Given the description of an element on the screen output the (x, y) to click on. 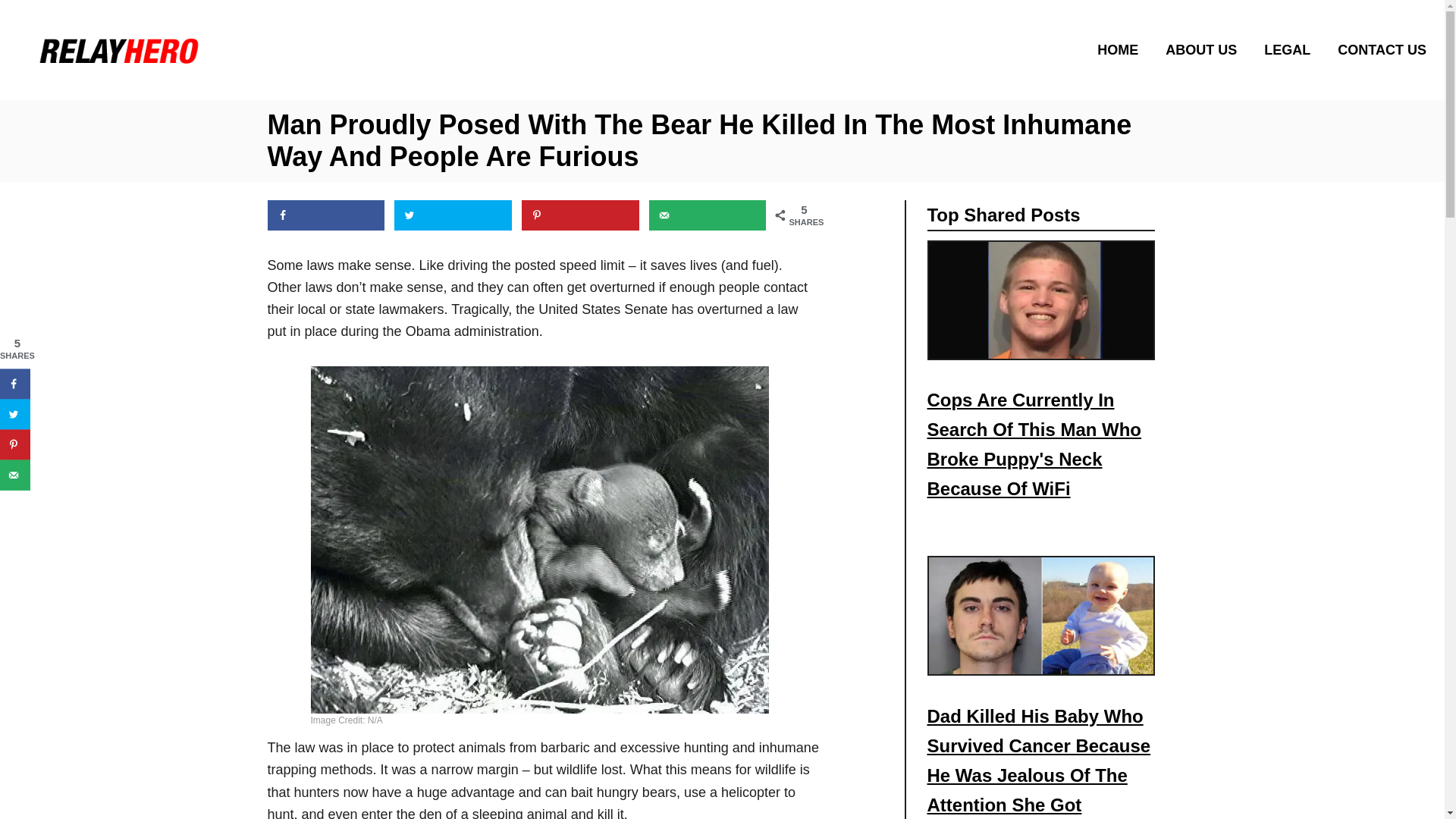
Send over email (708, 214)
ABOUT US (1205, 49)
Save to Pinterest (580, 214)
HOME (1121, 49)
CONTACT US (1376, 49)
LEGAL (1291, 49)
Relay Hero (202, 49)
Share on Facebook (15, 383)
Share on Facebook (325, 214)
